Given the description of an element on the screen output the (x, y) to click on. 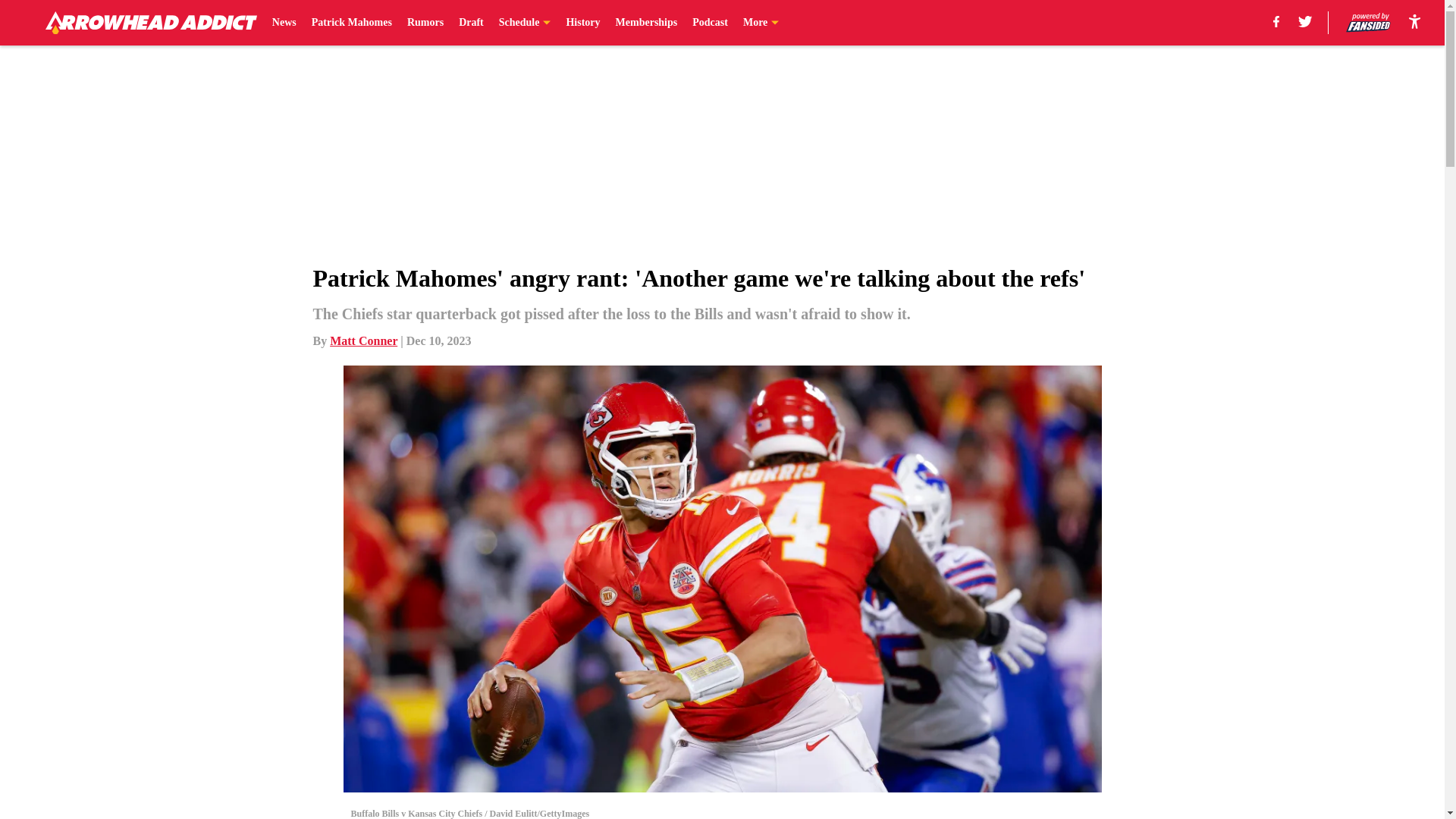
Patrick Mahomes (351, 22)
Draft (470, 22)
Rumors (425, 22)
Matt Conner (363, 340)
History (582, 22)
News (284, 22)
Podcast (710, 22)
Memberships (646, 22)
